Given the description of an element on the screen output the (x, y) to click on. 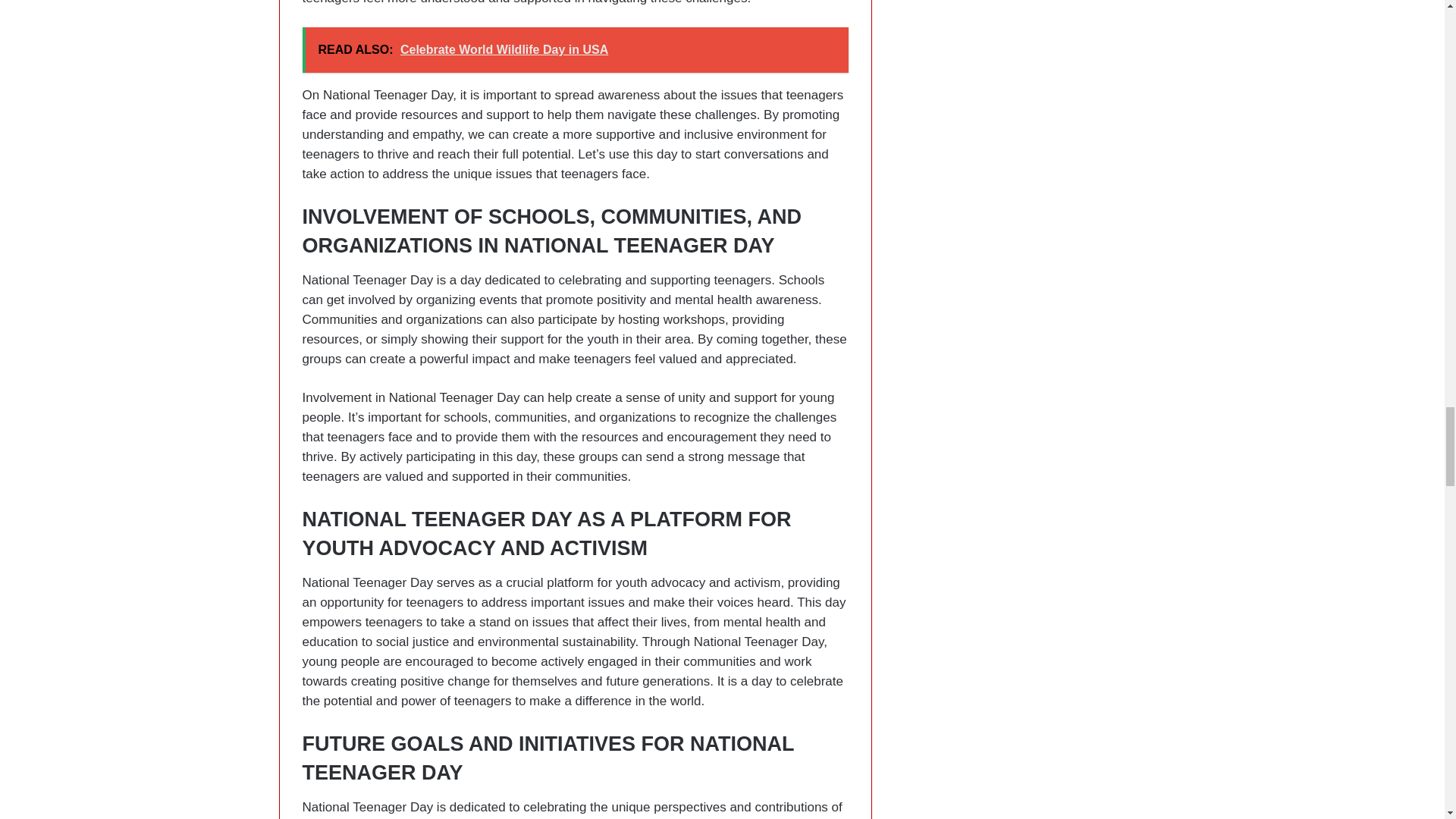
READ ALSO:  Celebrate World Wildlife Day in USA (574, 49)
